Given the description of an element on the screen output the (x, y) to click on. 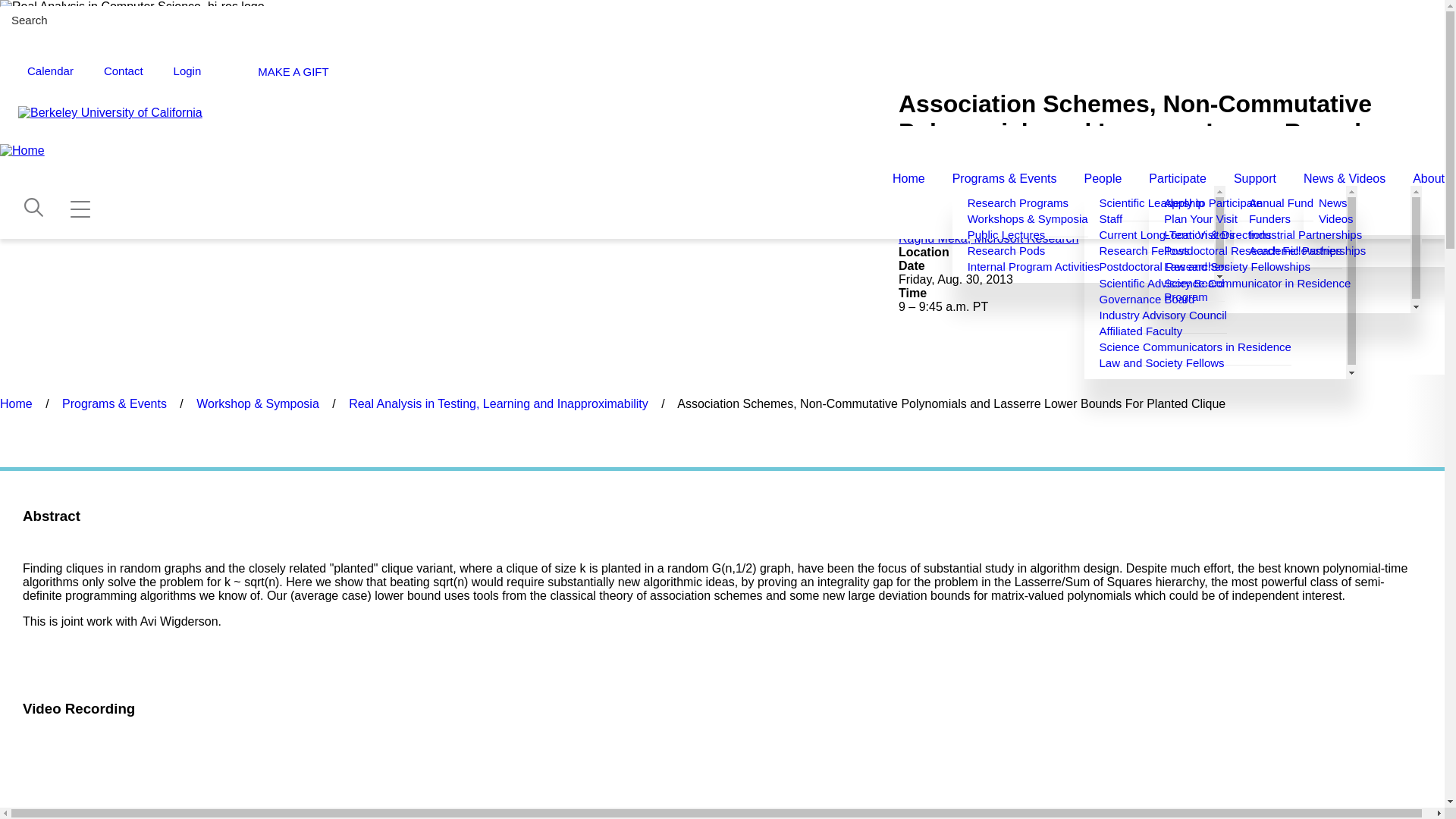
Contact (122, 71)
Plan Your Visit (1199, 219)
Science Communicator in Residence Program (1257, 289)
Search (1428, 19)
Calendar (50, 71)
Research Fellows (1144, 251)
Academic Partnerships (1307, 251)
Law and Society Fellows (1161, 363)
Login (187, 71)
Industrial Partnerships (1305, 235)
